Given the description of an element on the screen output the (x, y) to click on. 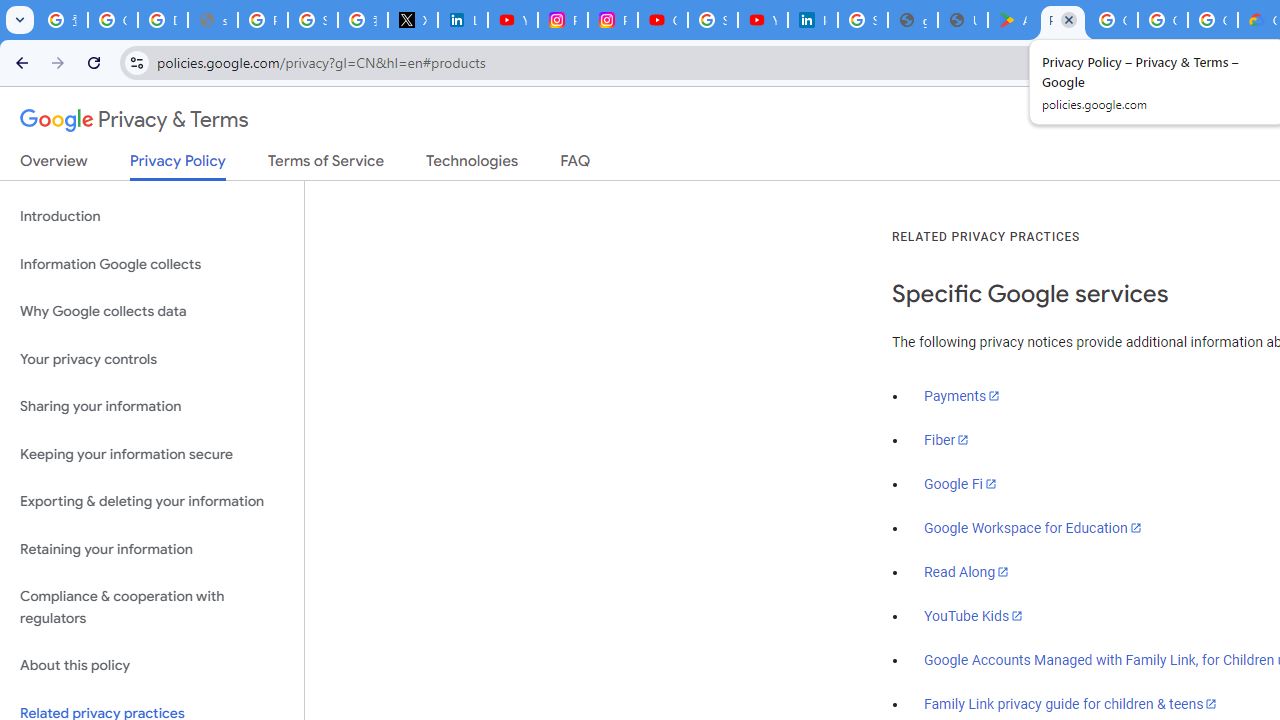
Sharing your information (152, 407)
Family Link privacy guide for children & teens (1071, 703)
Privacy & Terms (134, 120)
Identity verification via Persona | LinkedIn Help (813, 20)
Information Google collects (152, 263)
LinkedIn Privacy Policy (462, 20)
User Details (963, 20)
YouTube Content Monetization Policies - How YouTube Works (512, 20)
Keeping your information secure (152, 453)
